Given the description of an element on the screen output the (x, y) to click on. 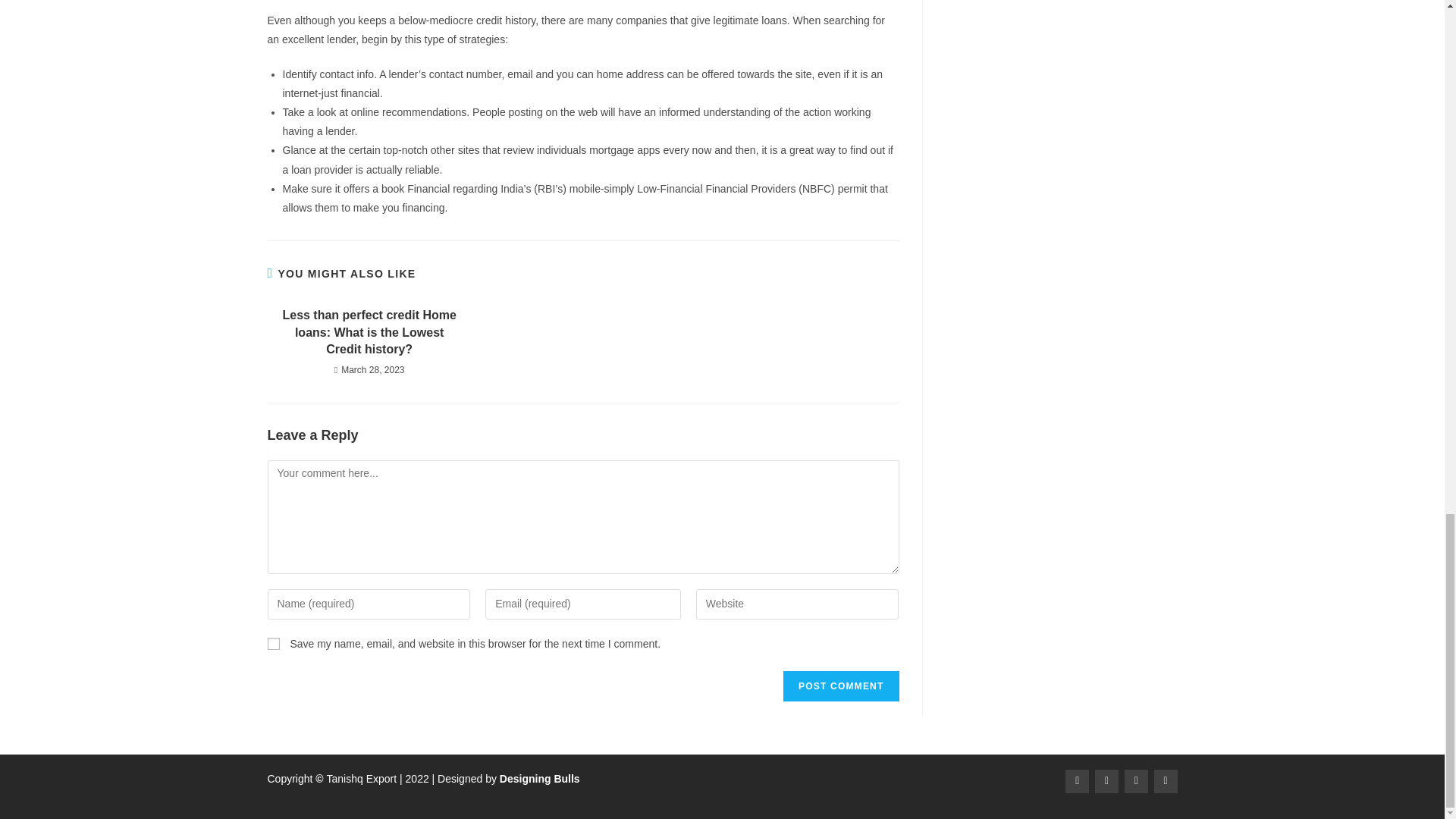
Post Comment (840, 685)
yes (272, 644)
Designing Bulls (539, 778)
Post Comment (840, 685)
